Given the description of an element on the screen output the (x, y) to click on. 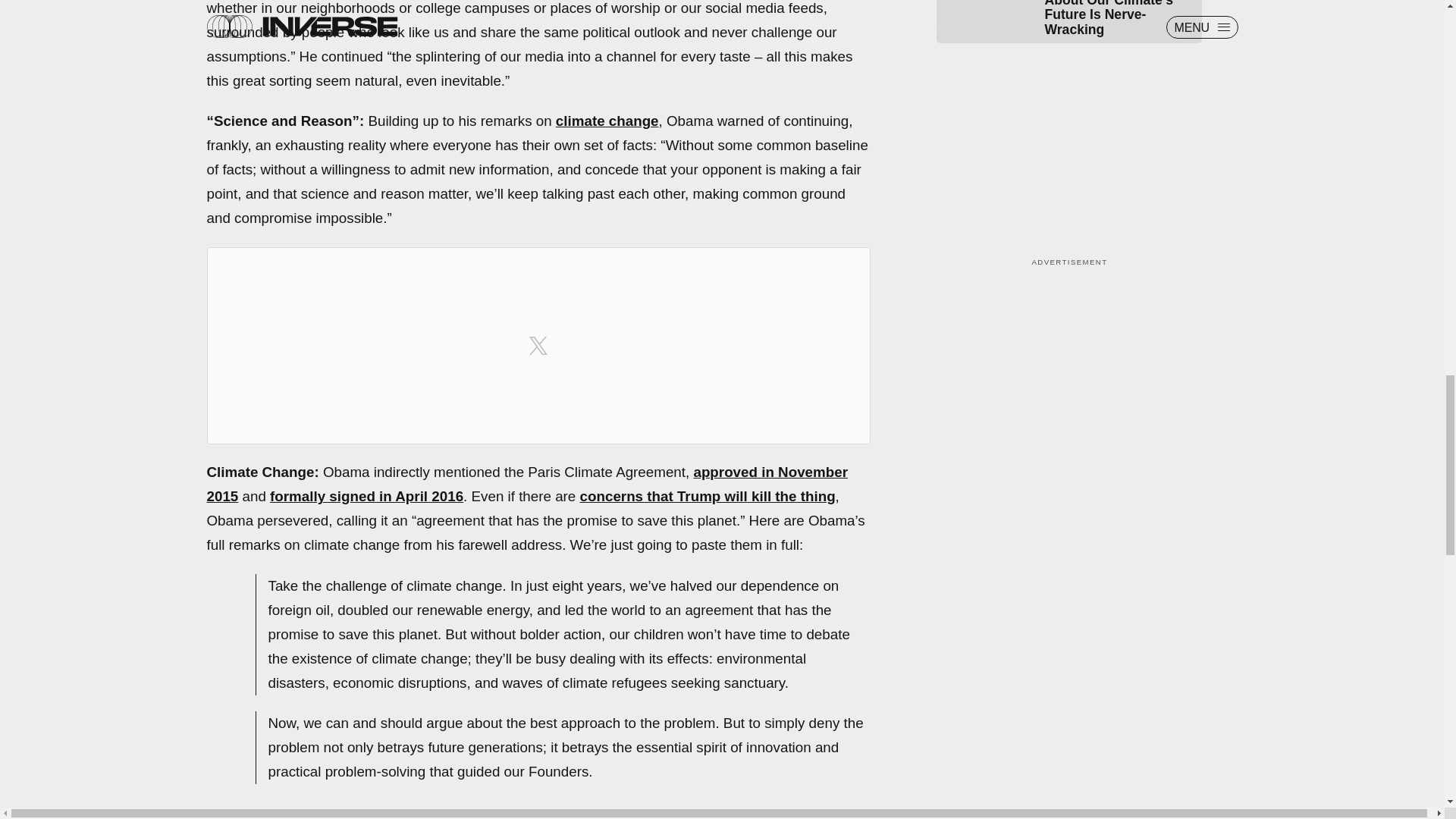
concerns that Trump will kill the thing (707, 496)
approved in November 2015 (526, 484)
climate change (607, 120)
formally signed in April 2016 (366, 496)
had to fight to keep his Blackberry (648, 811)
